Given the description of an element on the screen output the (x, y) to click on. 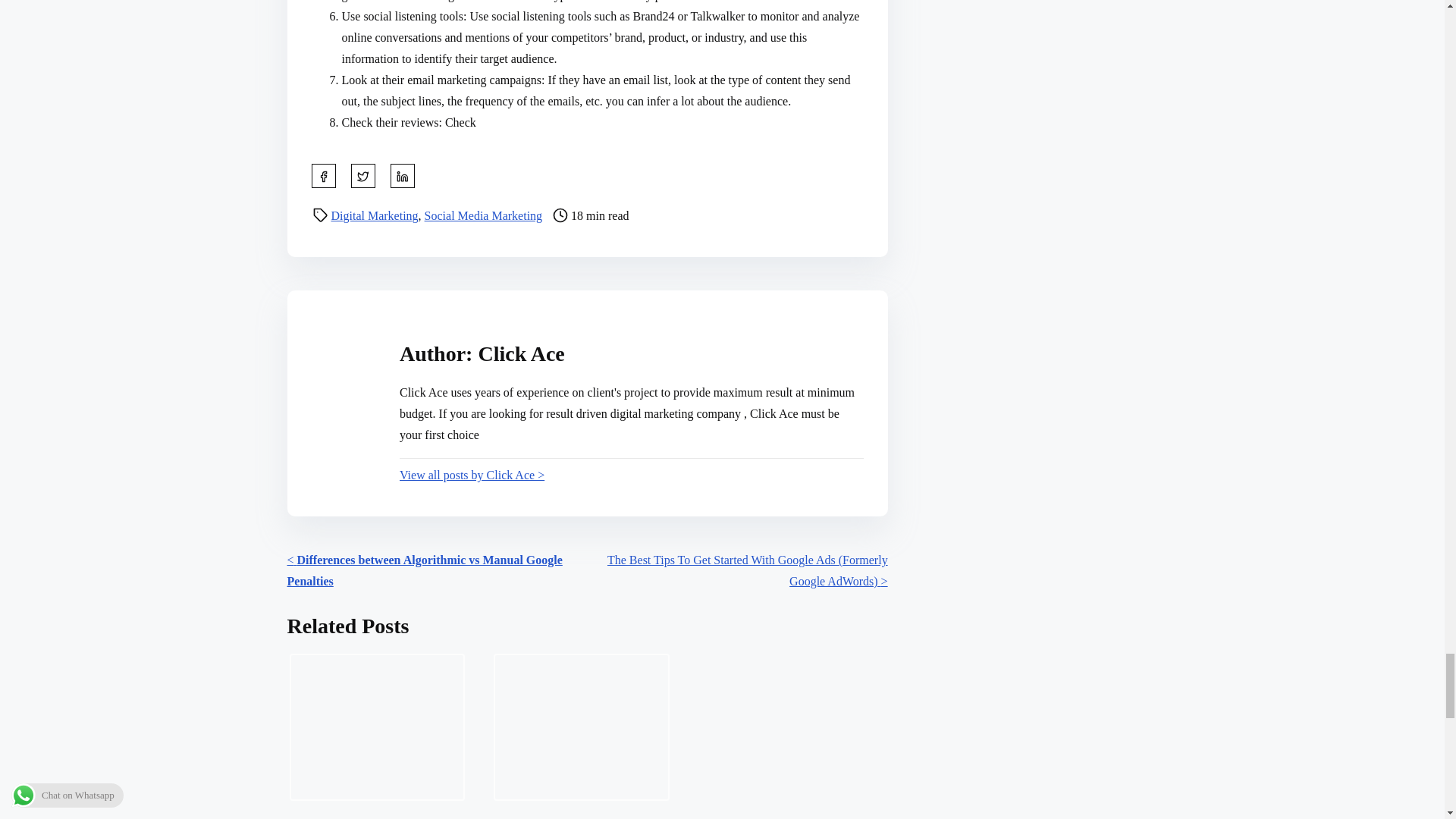
Digital Marketing (373, 215)
Share this post on Facebook (322, 175)
Share this post on Twitter (362, 175)
Share this post on Linkedin (401, 175)
Social Media Marketing (484, 215)
